Given the description of an element on the screen output the (x, y) to click on. 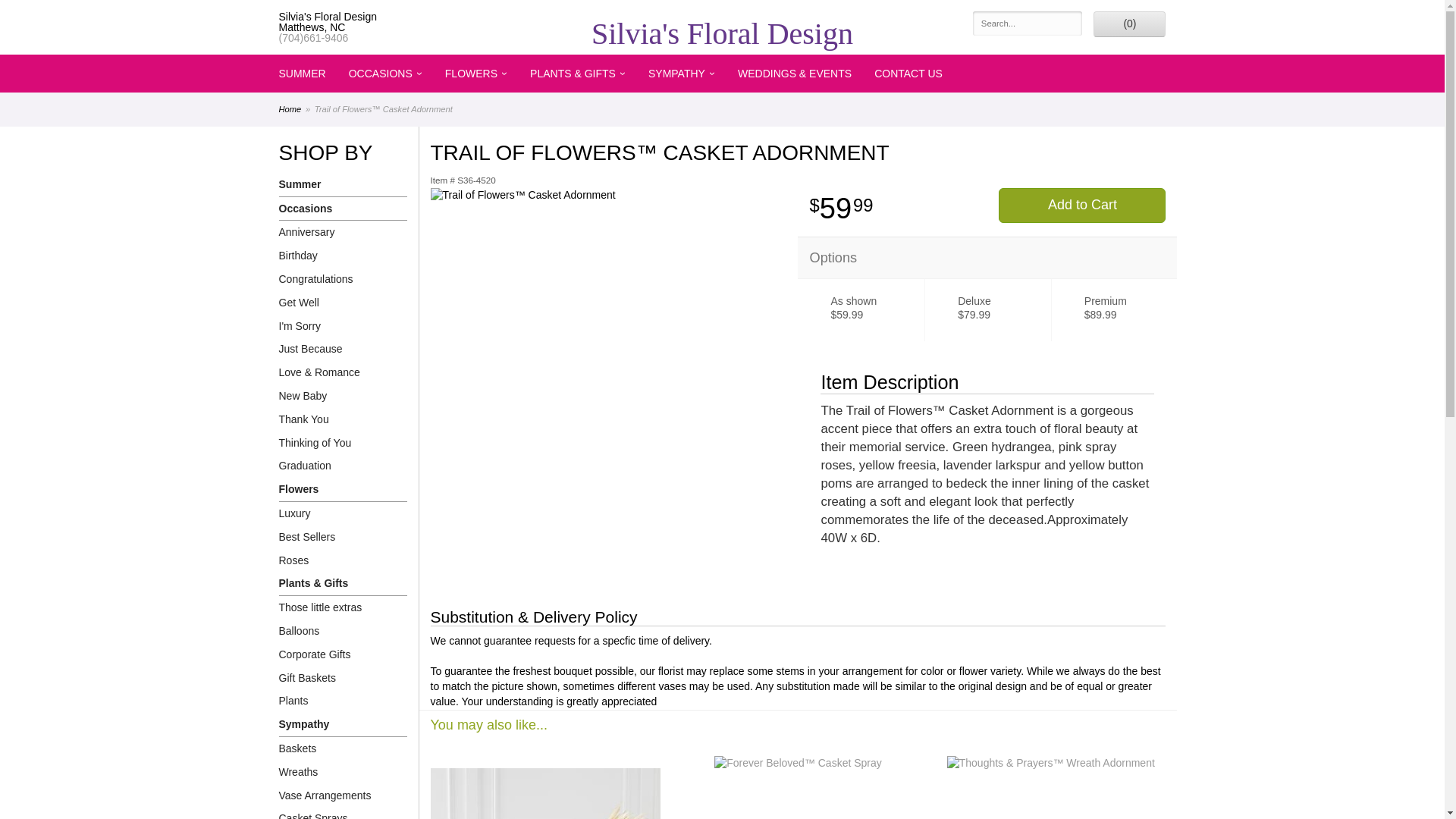
Home (290, 108)
SUMMER (301, 73)
FLOWERS (475, 73)
OCCASIONS (385, 73)
Silvia's Floral Design (722, 33)
CONTACT US (908, 73)
SYMPATHY (681, 73)
